Given the description of an element on the screen output the (x, y) to click on. 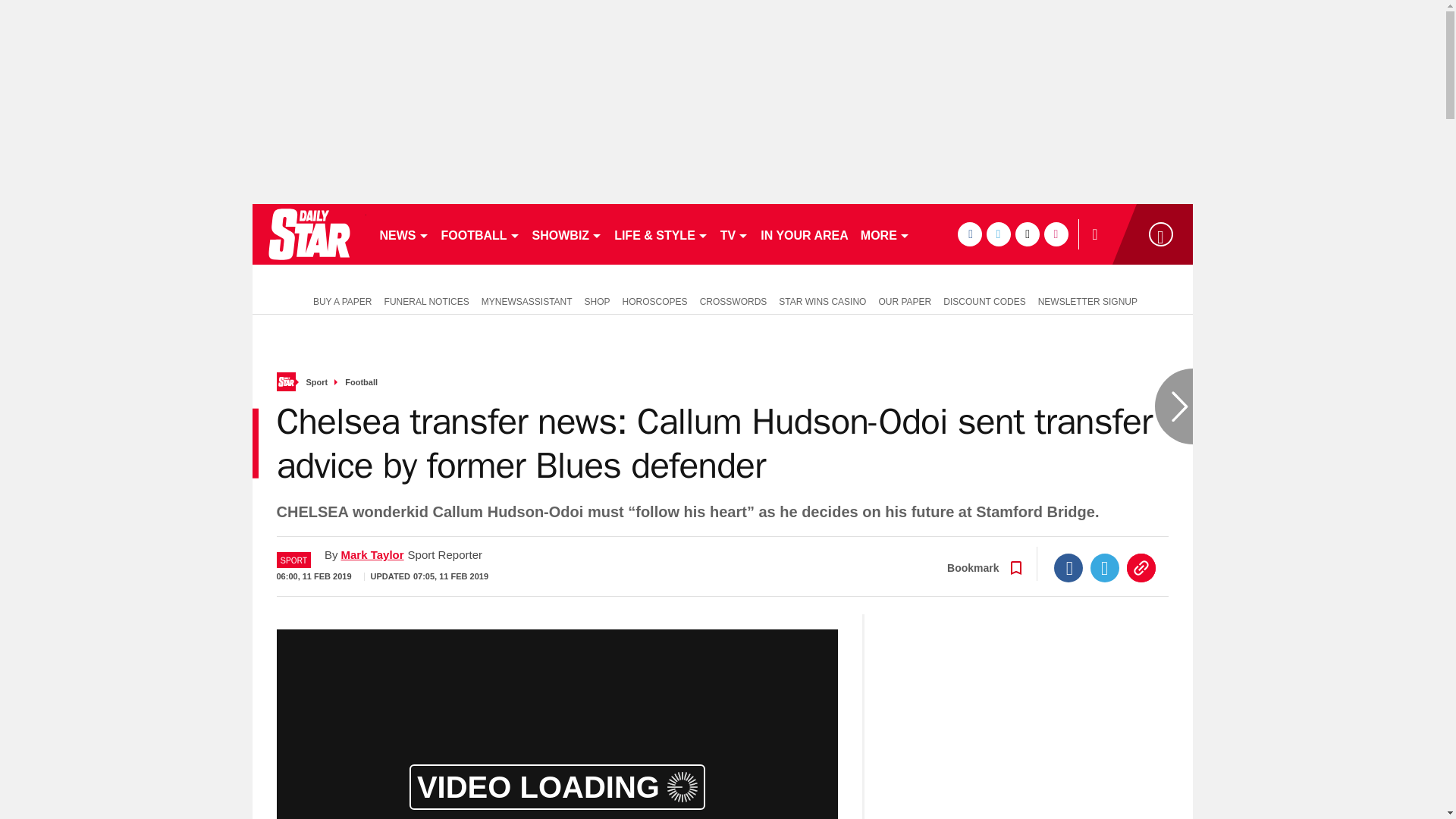
tiktok (1026, 233)
facebook (968, 233)
Facebook (1068, 567)
twitter (997, 233)
SHOWBIZ (566, 233)
NEWS (402, 233)
instagram (1055, 233)
Twitter (1104, 567)
FOOTBALL (480, 233)
dailystar (308, 233)
